Given the description of an element on the screen output the (x, y) to click on. 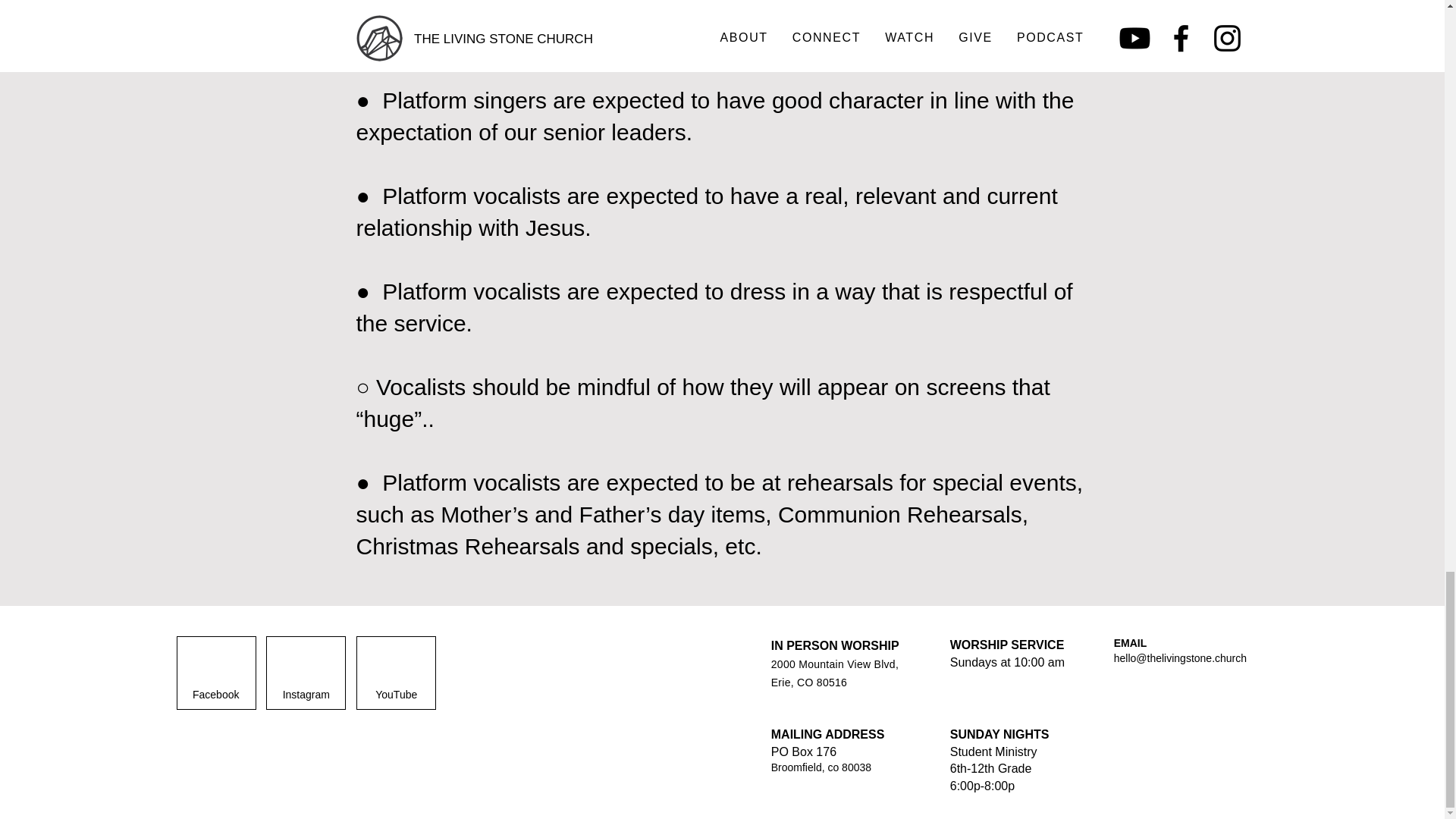
Facebook (215, 694)
EMAIL (1130, 643)
Instagram (305, 694)
YouTube (395, 694)
